Given the description of an element on the screen output the (x, y) to click on. 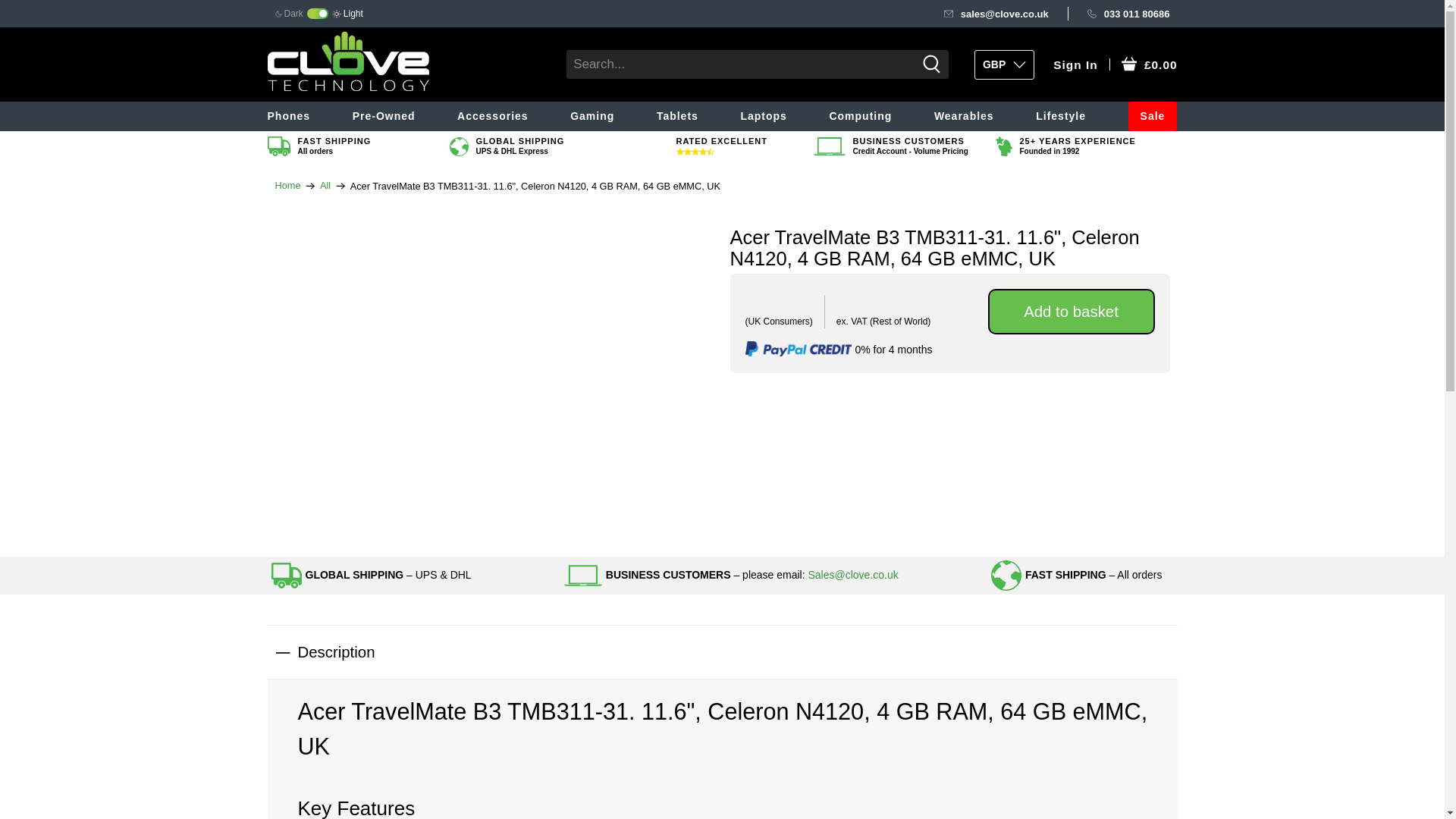
033 011 80686 (1128, 13)
Clove Technology (287, 185)
GBP (1003, 64)
Phones (303, 116)
Sign In (1074, 64)
